Given the description of an element on the screen output the (x, y) to click on. 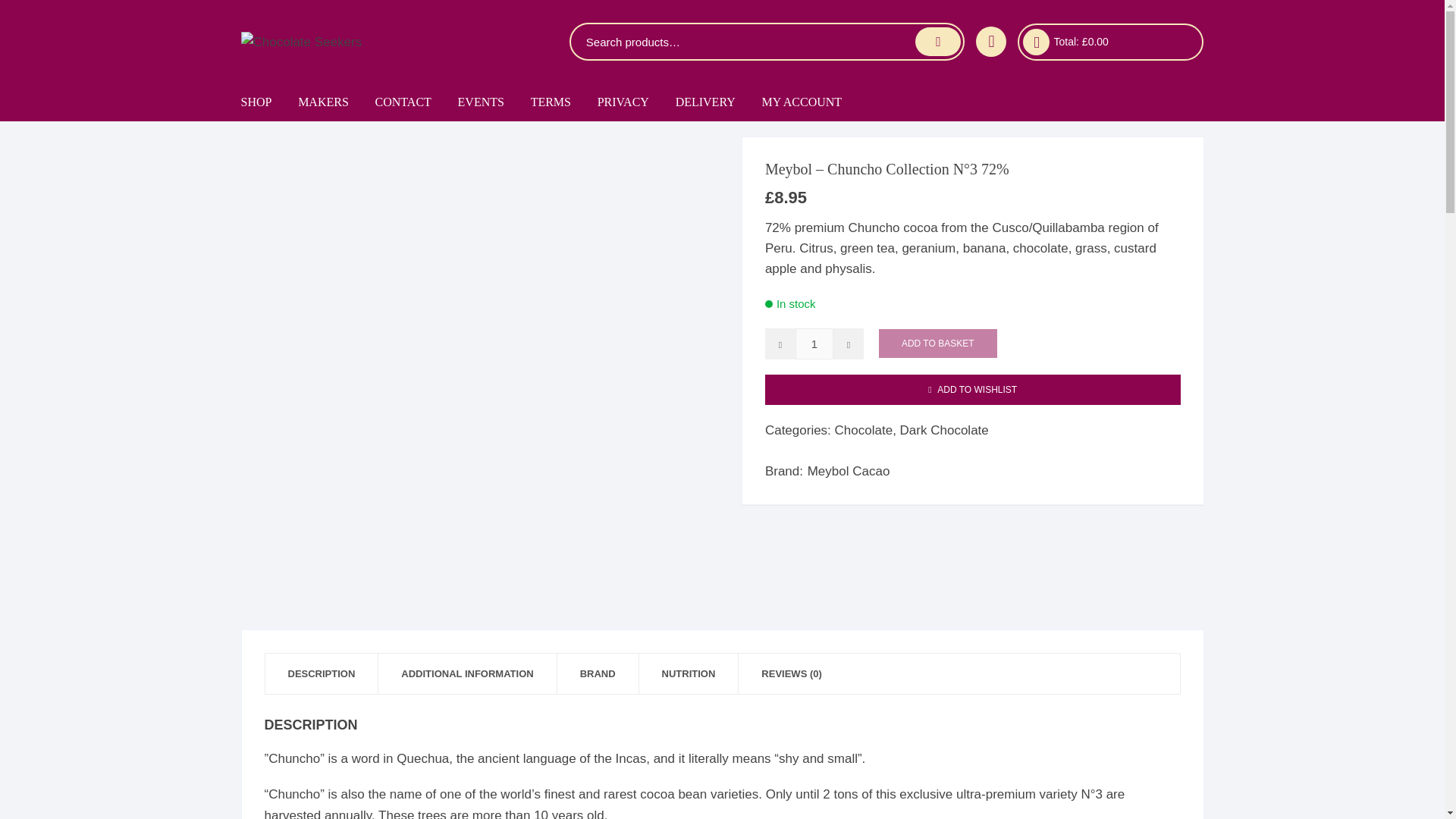
Chocolarder (381, 364)
Cacaosuyo (381, 326)
Extra Dark (335, 326)
Dick Taylor (381, 438)
J.Cocoa (381, 663)
Discounts (335, 214)
Allo Simonne (381, 139)
1 (813, 343)
Selection Boxes (335, 289)
BeanCraft Chocolate (381, 289)
Spreads (335, 514)
London Chocolate (381, 807)
Friis-Holm (381, 589)
Ara Chocolat (381, 176)
Inclusions (335, 477)
